Given the description of an element on the screen output the (x, y) to click on. 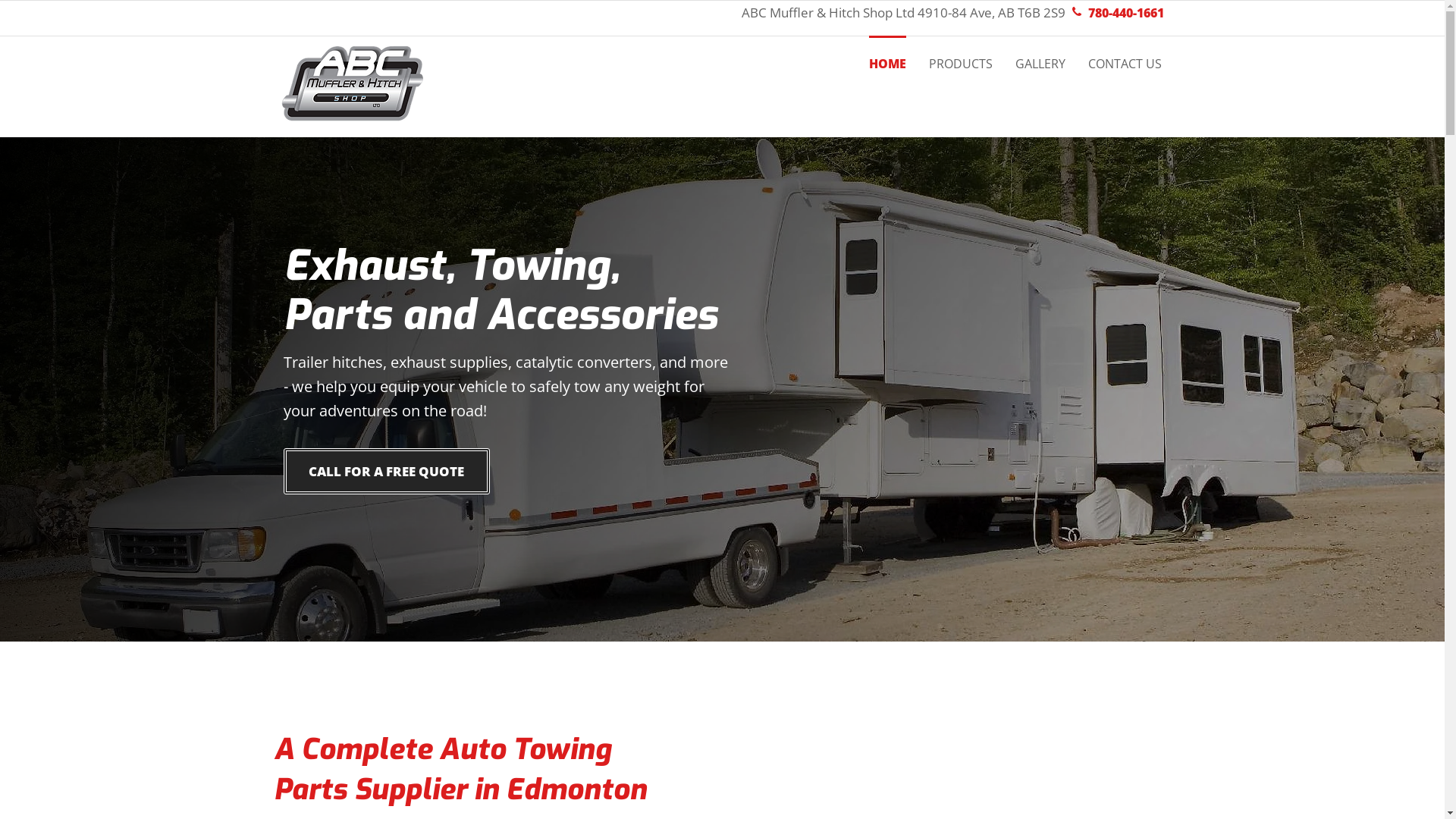
780-440-1661 Element type: text (1123, 12)
HOME Element type: text (887, 53)
GALLERY Element type: text (1039, 53)
CALL FOR A FREE QUOTE Element type: text (386, 471)
PRODUCTS Element type: text (959, 53)
CONTACT US Element type: text (1124, 53)
